Given the description of an element on the screen output the (x, y) to click on. 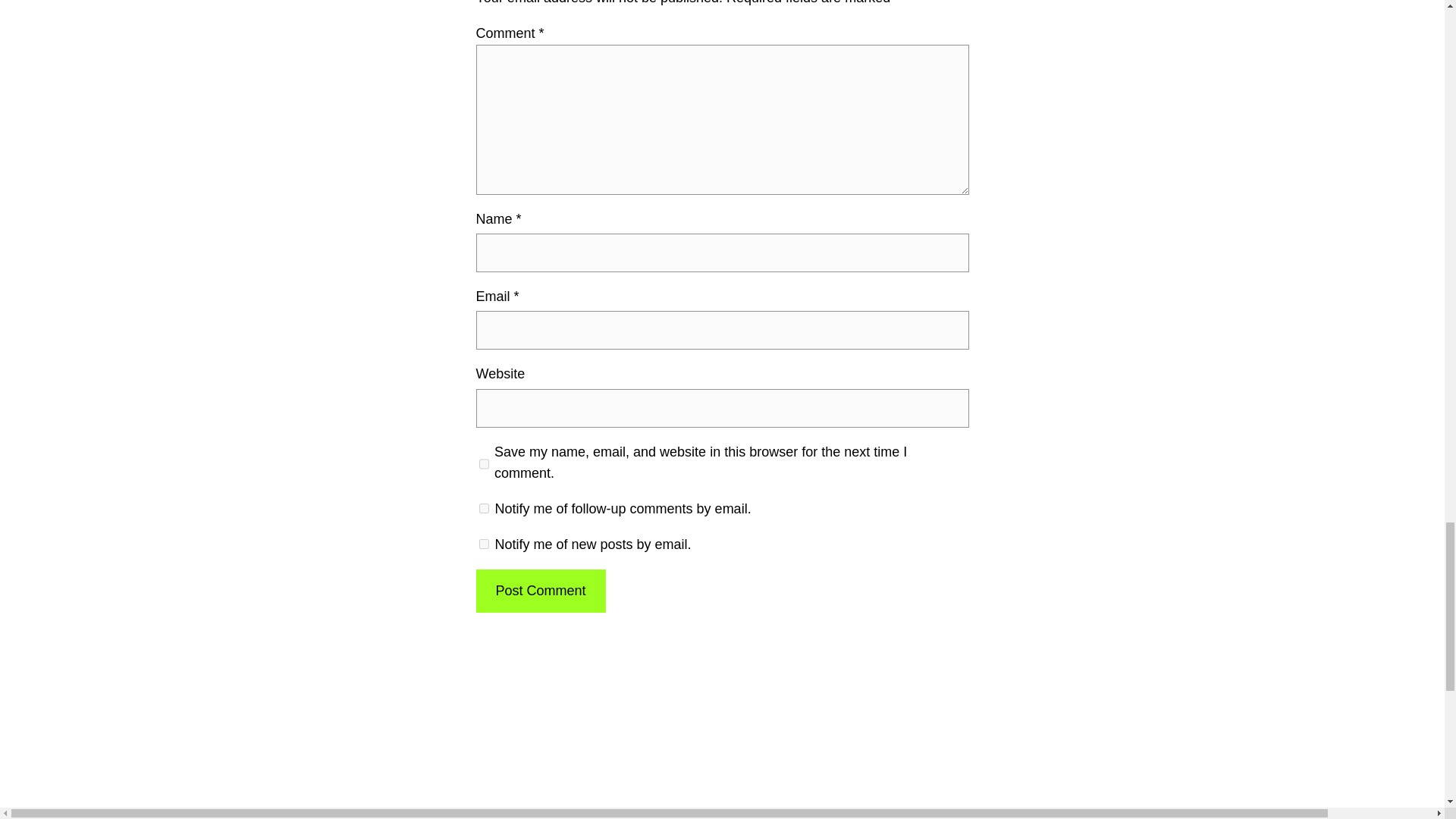
Post Comment (540, 590)
subscribe (484, 543)
subscribe (484, 508)
Post Comment (540, 590)
